Given the description of an element on the screen output the (x, y) to click on. 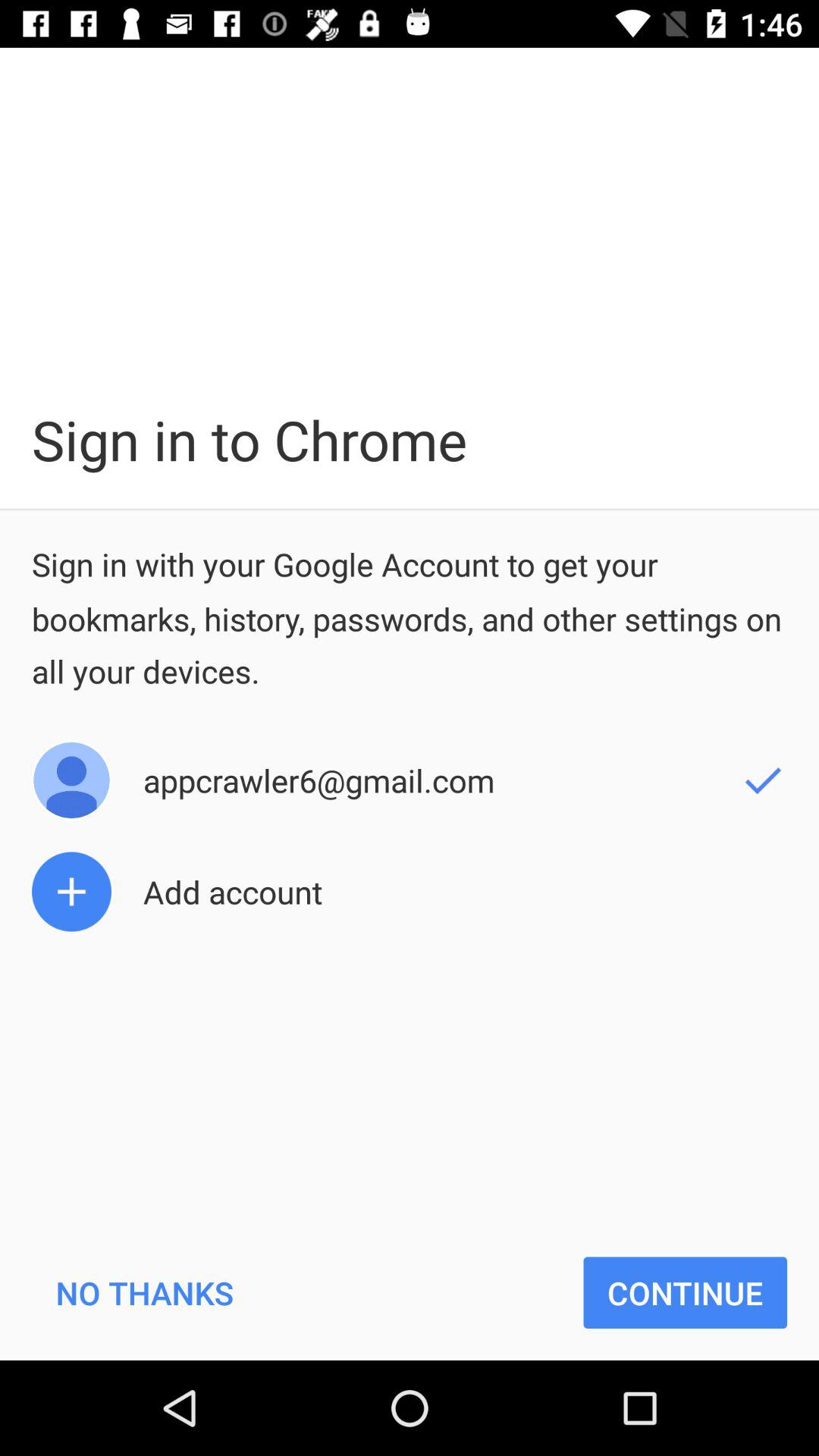
launch continue icon (685, 1292)
